Given the description of an element on the screen output the (x, y) to click on. 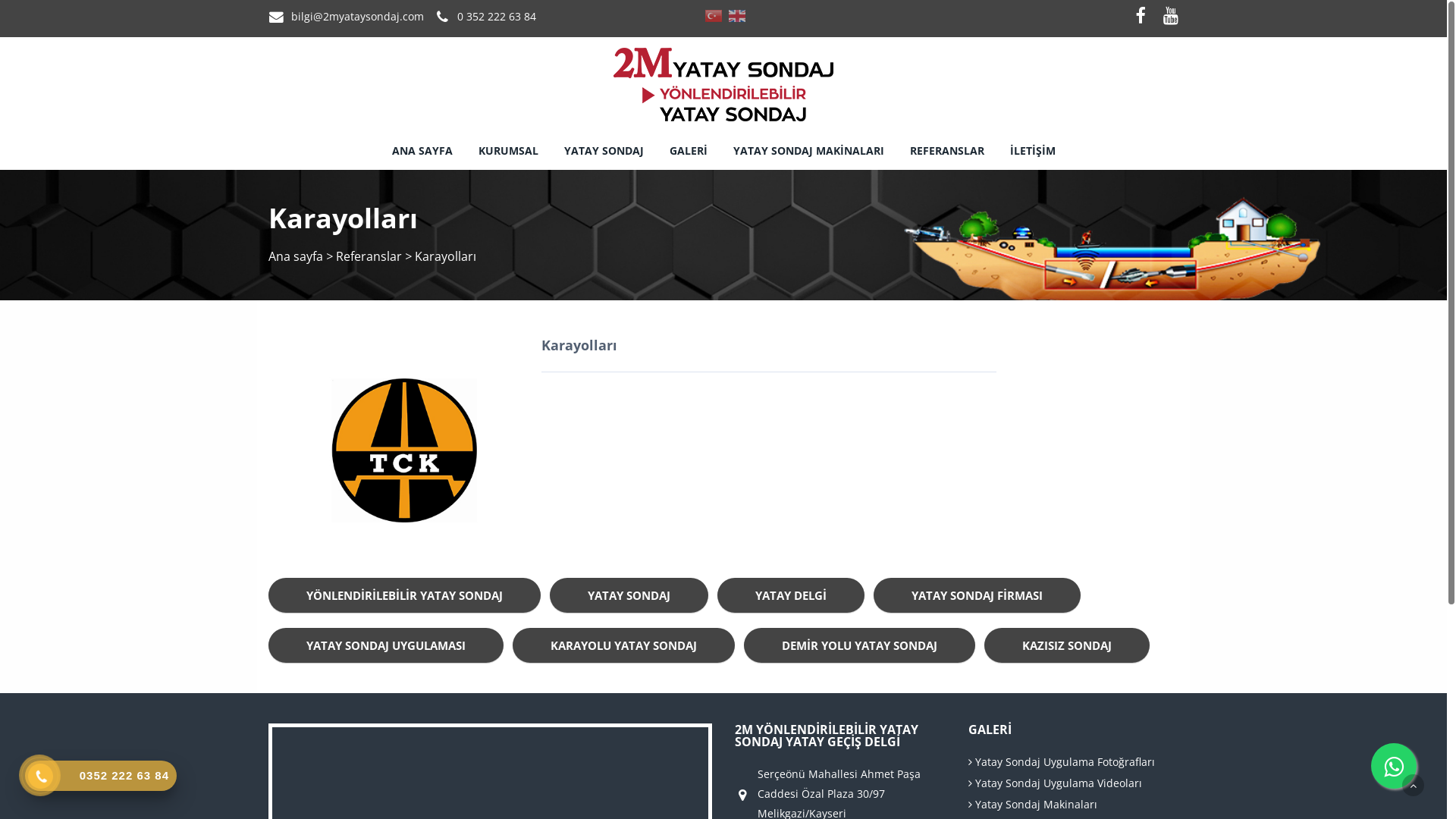
YATAY DELGI Element type: text (790, 594)
YATAY SONDAJ UYGULAMASI Element type: text (385, 644)
DEMIR YOLU YATAY SONDAJ Element type: text (859, 644)
bilgi@2myataysondaj.com Element type: text (357, 16)
ANA SAYFA Element type: text (421, 150)
Ana sayfa Element type: text (295, 255)
YATAY SONDAJ FIRMASI Element type: text (976, 594)
KURUMSAL Element type: text (507, 150)
KARAYOLU YATAY SONDAJ Element type: text (623, 644)
YATAY SONDAJ Element type: text (628, 594)
GALERI Element type: text (687, 150)
Referanslar Element type: text (368, 255)
YATAY SONDAJ Element type: text (603, 150)
REFERANSLAR Element type: text (947, 150)
YATAY SONDAJ MAKINALARI Element type: text (807, 150)
0 352 222 63 84 Element type: text (496, 16)
0352 222 63 84 Element type: text (100, 775)
KAZISIZ SONDAJ Element type: text (1066, 644)
